Given the description of an element on the screen output the (x, y) to click on. 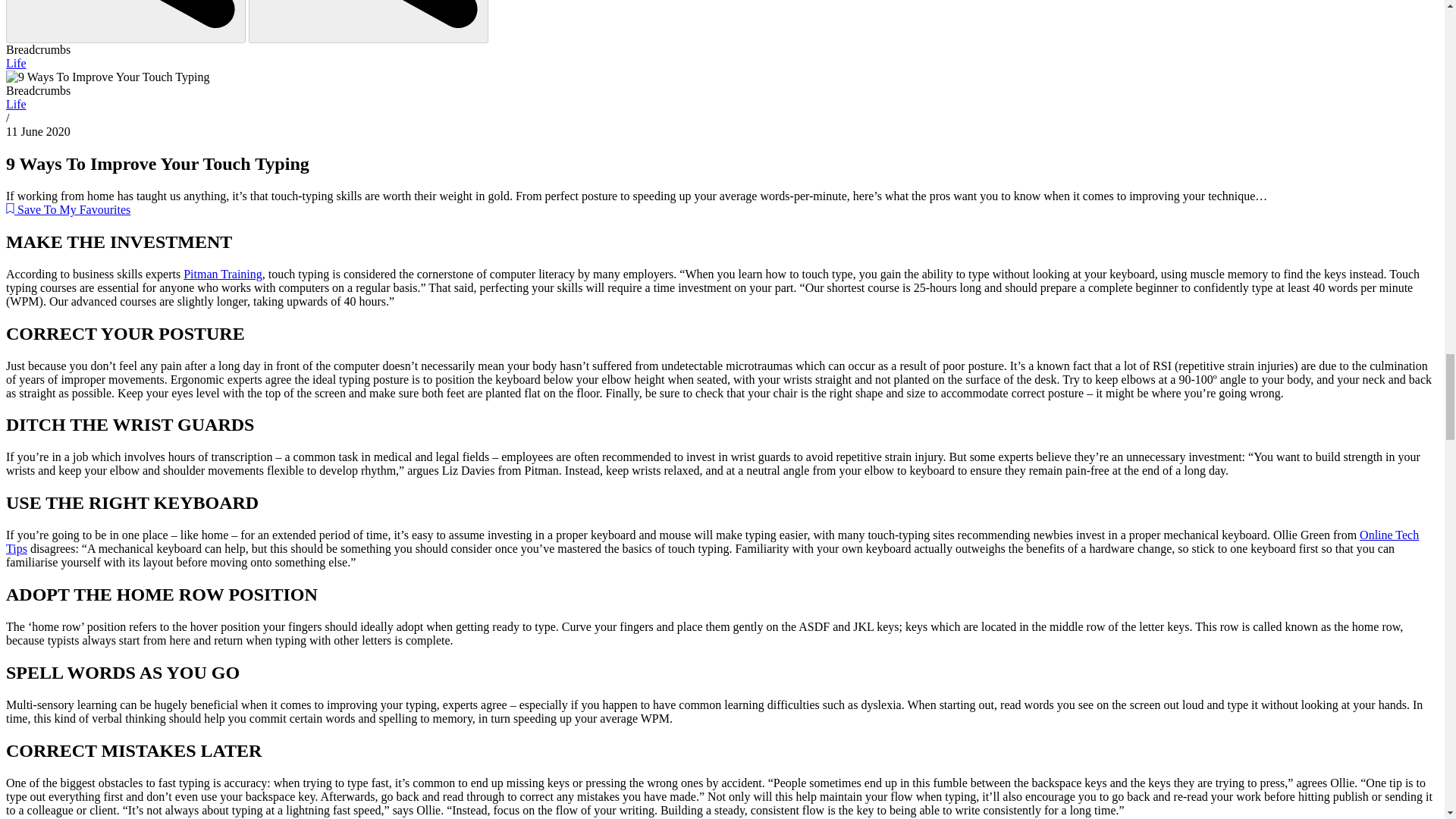
Add article to my favourites (68, 209)
